Given the description of an element on the screen output the (x, y) to click on. 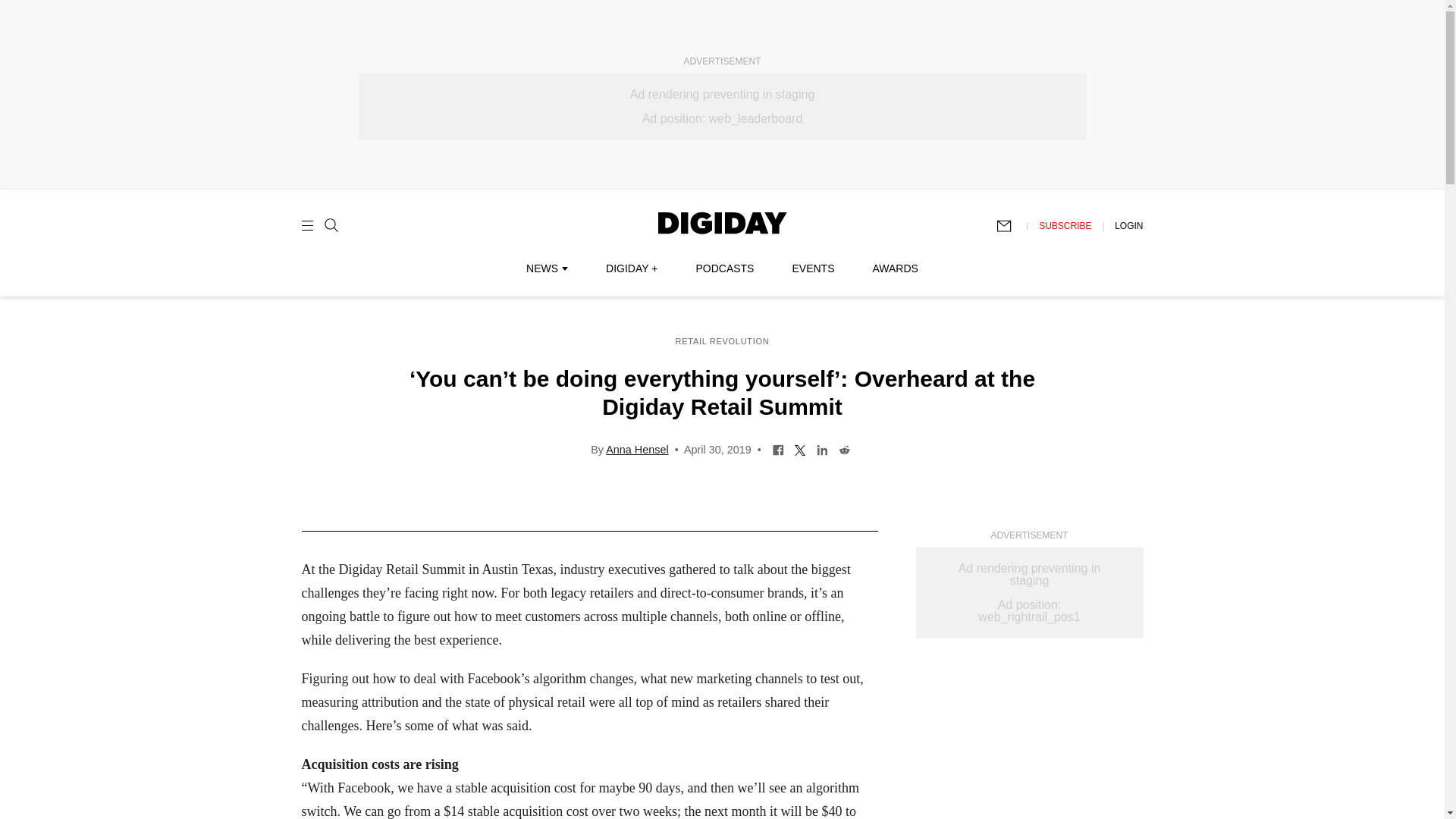
NEWS (546, 267)
AWARDS (894, 267)
Share on Reddit (844, 449)
Share on Twitter (799, 449)
Subscribe (1010, 225)
SUBSCRIBE (1064, 225)
Share on Facebook (777, 449)
Share on LinkedIn (821, 449)
LOGIN (1128, 225)
PODCASTS (725, 267)
